Given the description of an element on the screen output the (x, y) to click on. 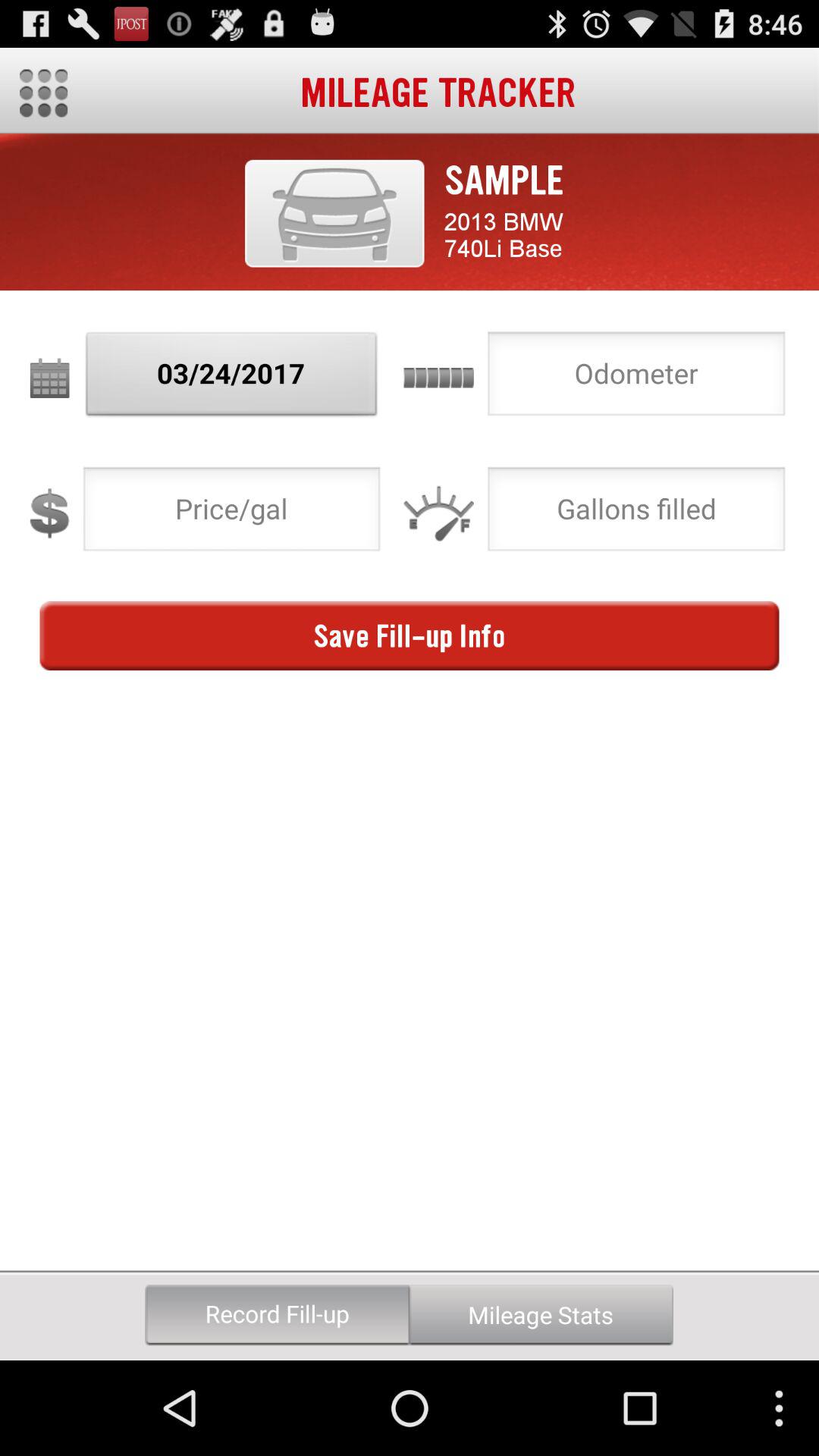
choose option (636, 377)
